Given the description of an element on the screen output the (x, y) to click on. 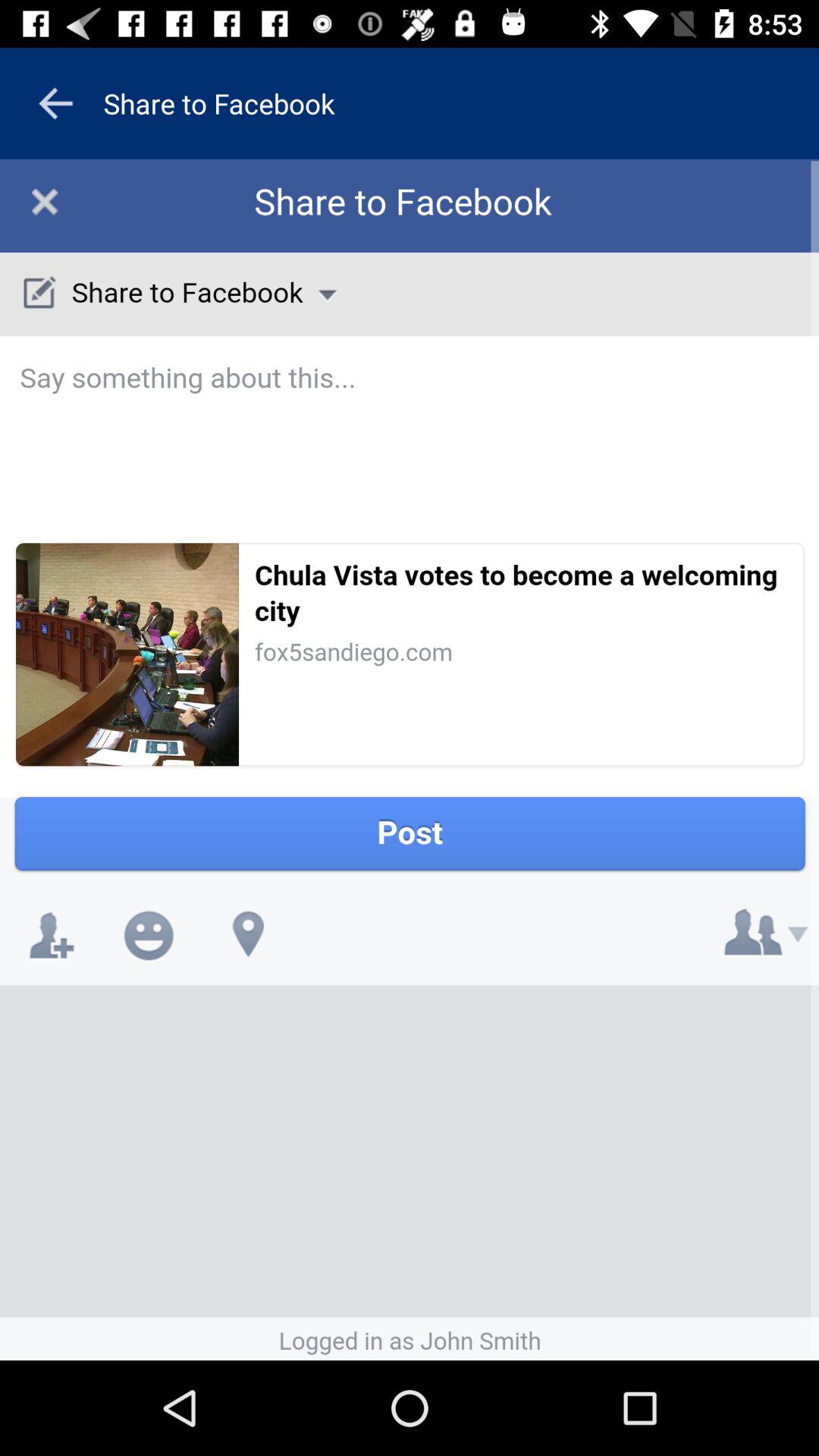
go back (55, 103)
